Given the description of an element on the screen output the (x, y) to click on. 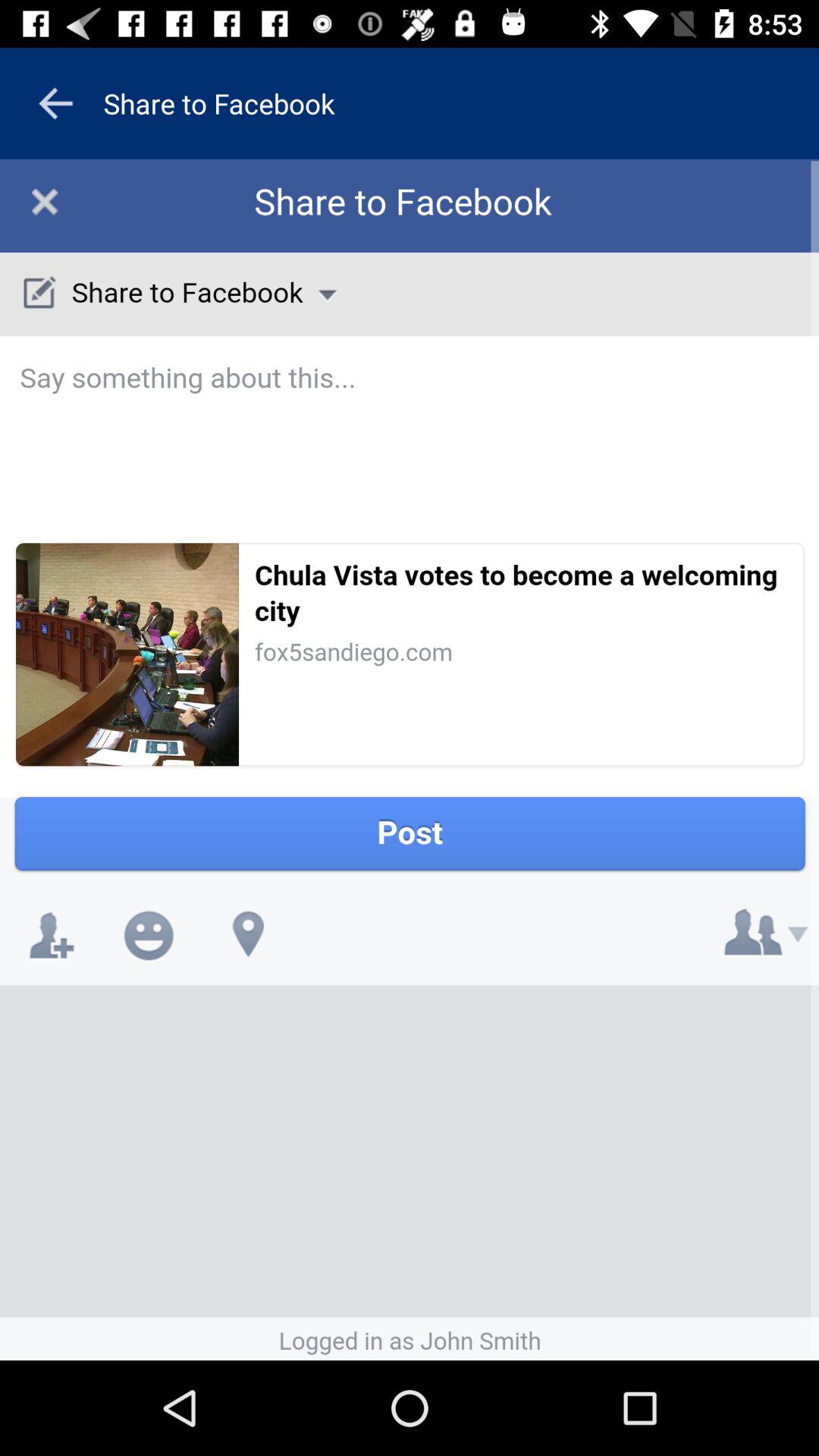
go back (55, 103)
